Given the description of an element on the screen output the (x, y) to click on. 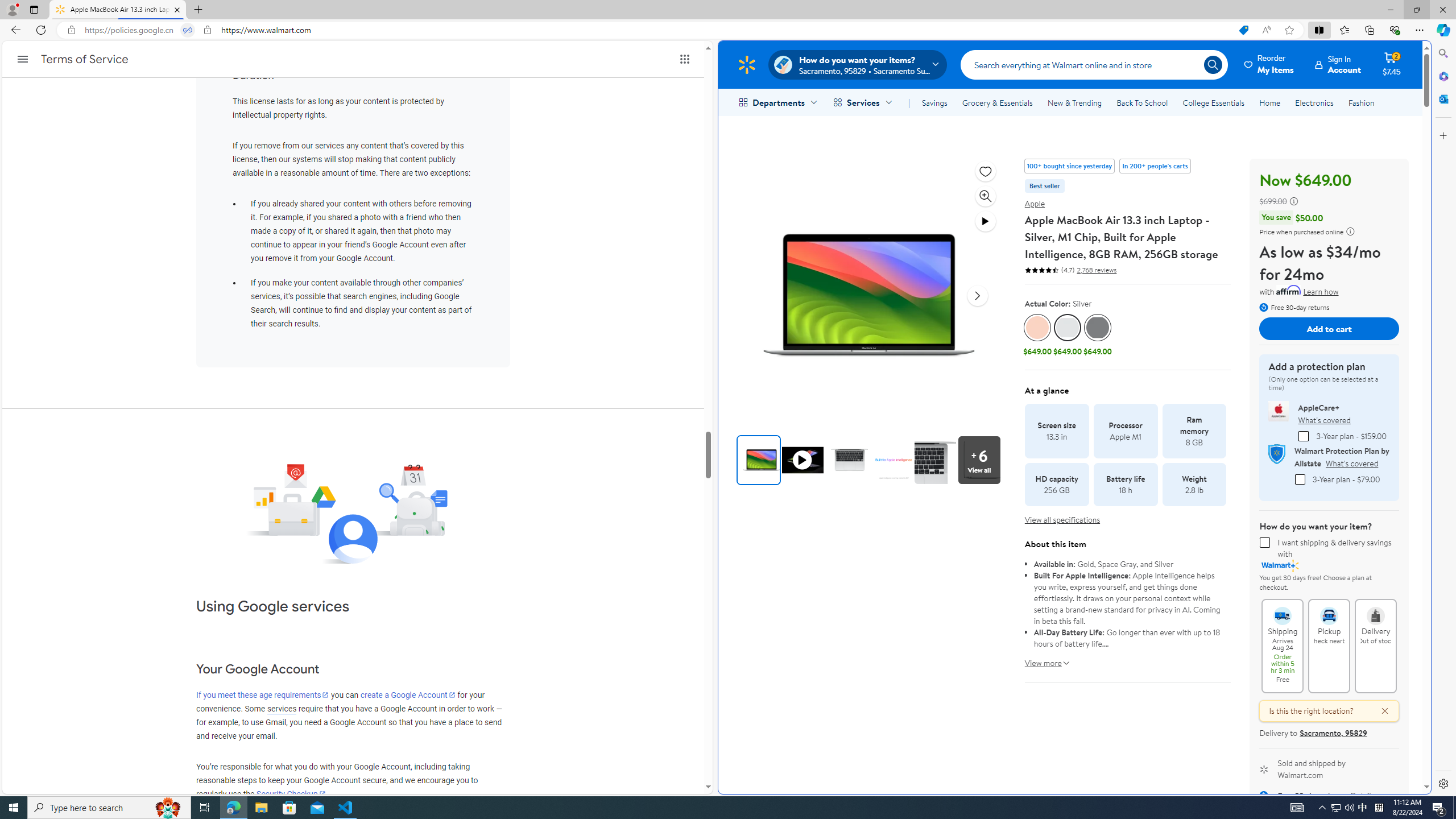
Close Search pane (1442, 53)
New & Trending (1075, 102)
Space Gray (1097, 327)
Search icon (1212, 64)
Zoom image modal (985, 195)
Savings (933, 102)
Class: absolute pointer (802, 459)
